Given the description of an element on the screen output the (x, y) to click on. 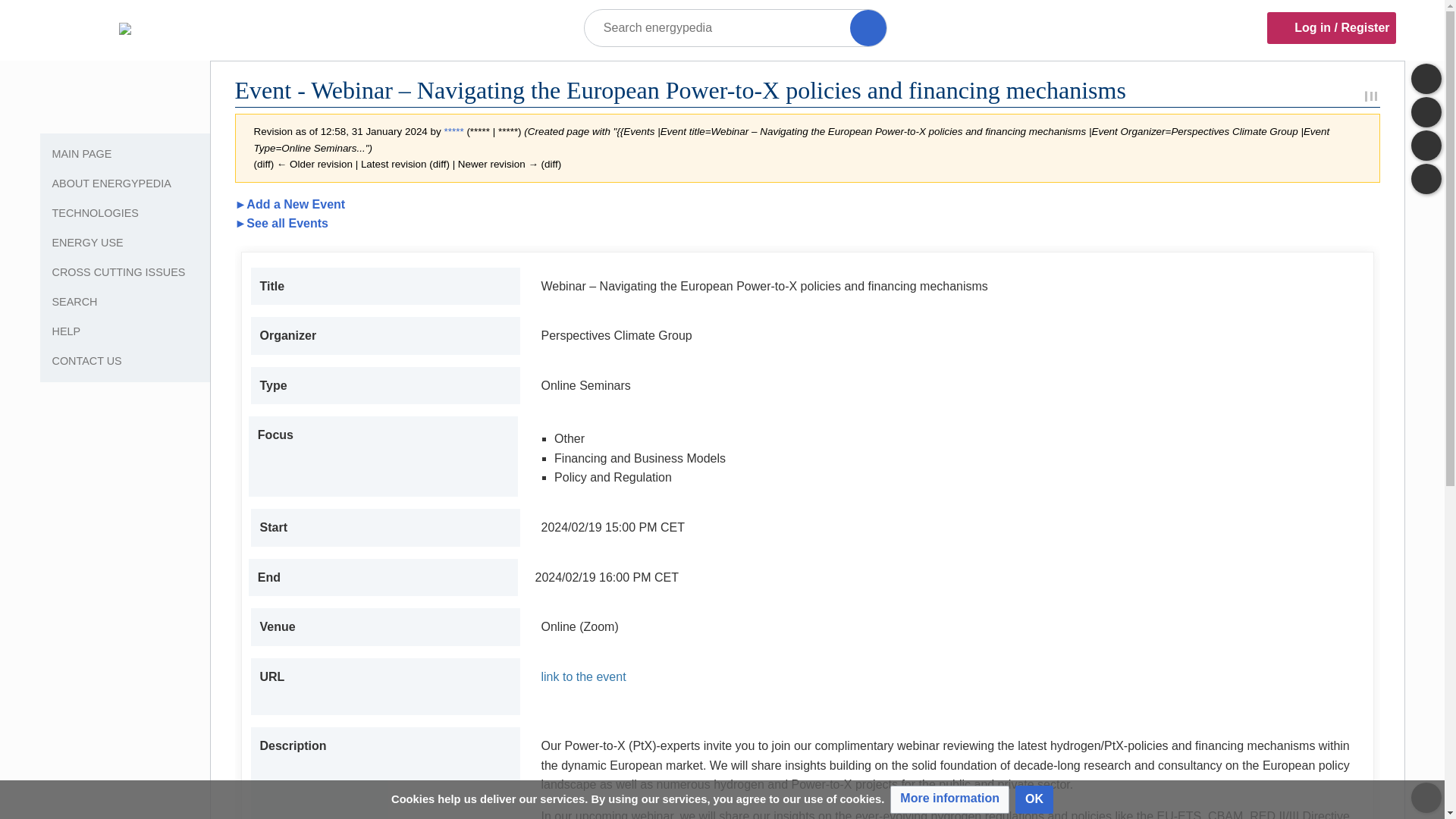
OK (1033, 799)
Title (868, 27)
Title (868, 27)
link to the event (948, 677)
Go to a page with this exact name if it exists (868, 27)
Title (868, 27)
Events (281, 223)
Full text (18, 18)
More information (949, 799)
